Given the description of an element on the screen output the (x, y) to click on. 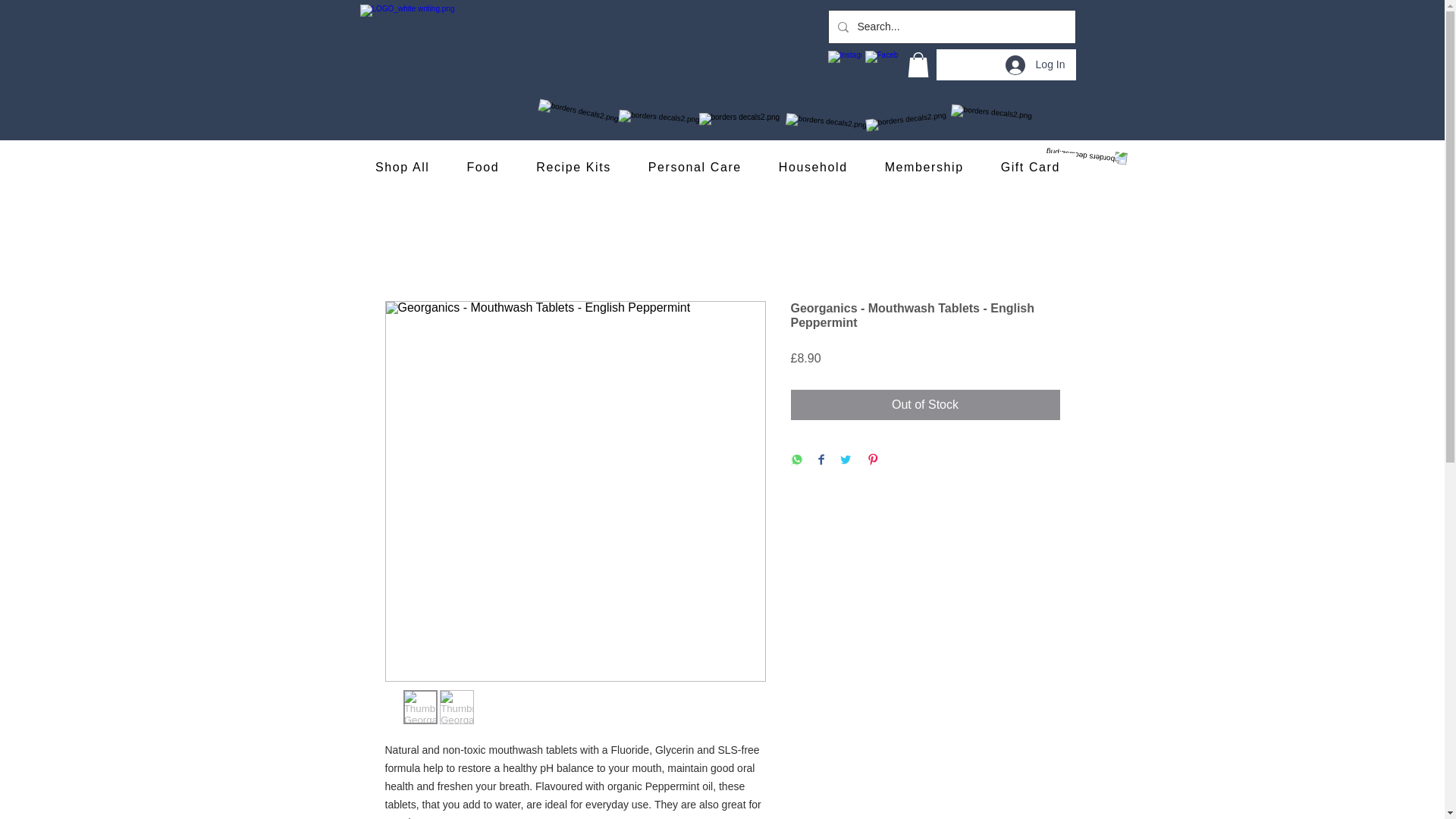
Shop All (401, 168)
Membership (923, 168)
Log In (1034, 63)
Recipe Kits (573, 168)
Gift Card (1030, 168)
Out of Stock (924, 404)
